Given the description of an element on the screen output the (x, y) to click on. 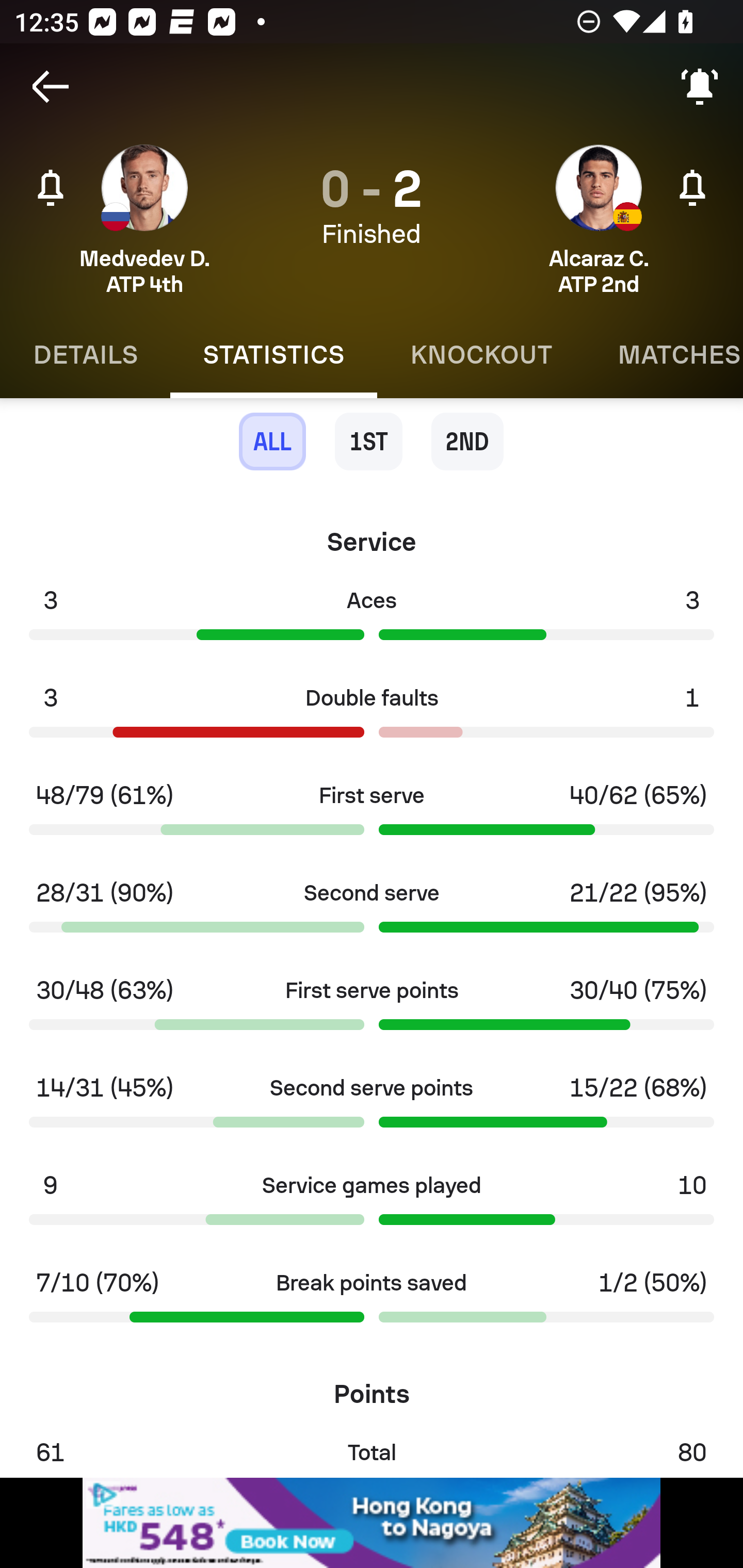
Navigate up (50, 86)
Details DETAILS (85, 355)
Knockout KNOCKOUT (480, 355)
Matches MATCHES (663, 355)
ALL (272, 441)
1ST (368, 441)
2ND (466, 441)
Service (371, 534)
3 Aces 3 500.0 500.0 (371, 619)
3 Double faults 1 750.0 250.0 (371, 717)
48/79 (61%) First serve 40/62 (65%) 607.0 645.0 (371, 814)
28/31 (90%) Second serve 21/22 (95%) 903.0 954.0 (371, 912)
9 Service games played 10 473.0 526.0 (371, 1205)
Points (371, 1387)
61 Total 80 (371, 1450)
wi46309w_320x50 (371, 1522)
